Given the description of an element on the screen output the (x, y) to click on. 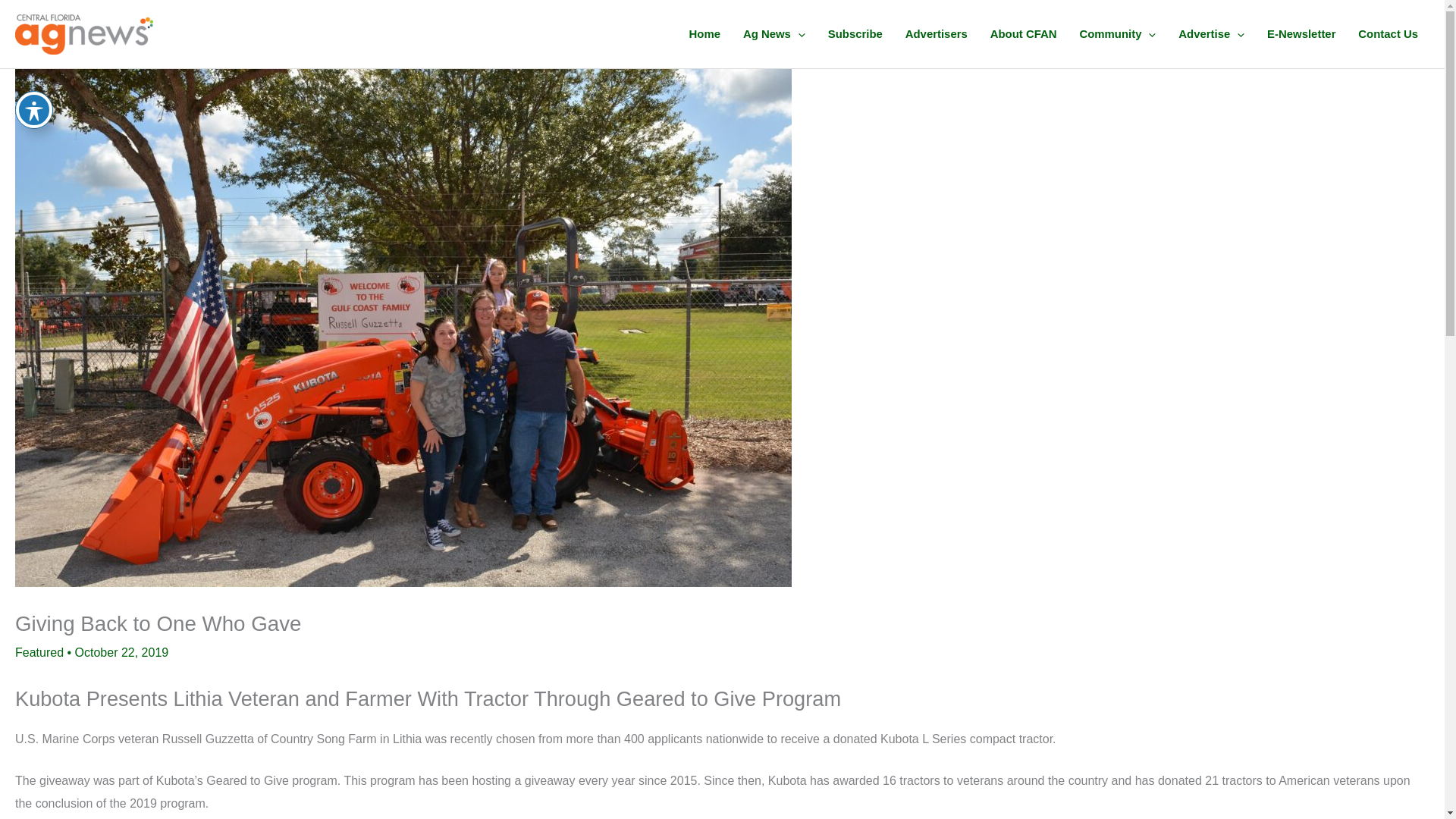
Ag News (774, 33)
Advertise (1211, 33)
Subscribe (854, 33)
Home (705, 33)
Community (1117, 33)
E-Newsletter (1300, 33)
Contact Us (1387, 33)
About CFAN (1023, 33)
Advertisers (935, 33)
